Given the description of an element on the screen output the (x, y) to click on. 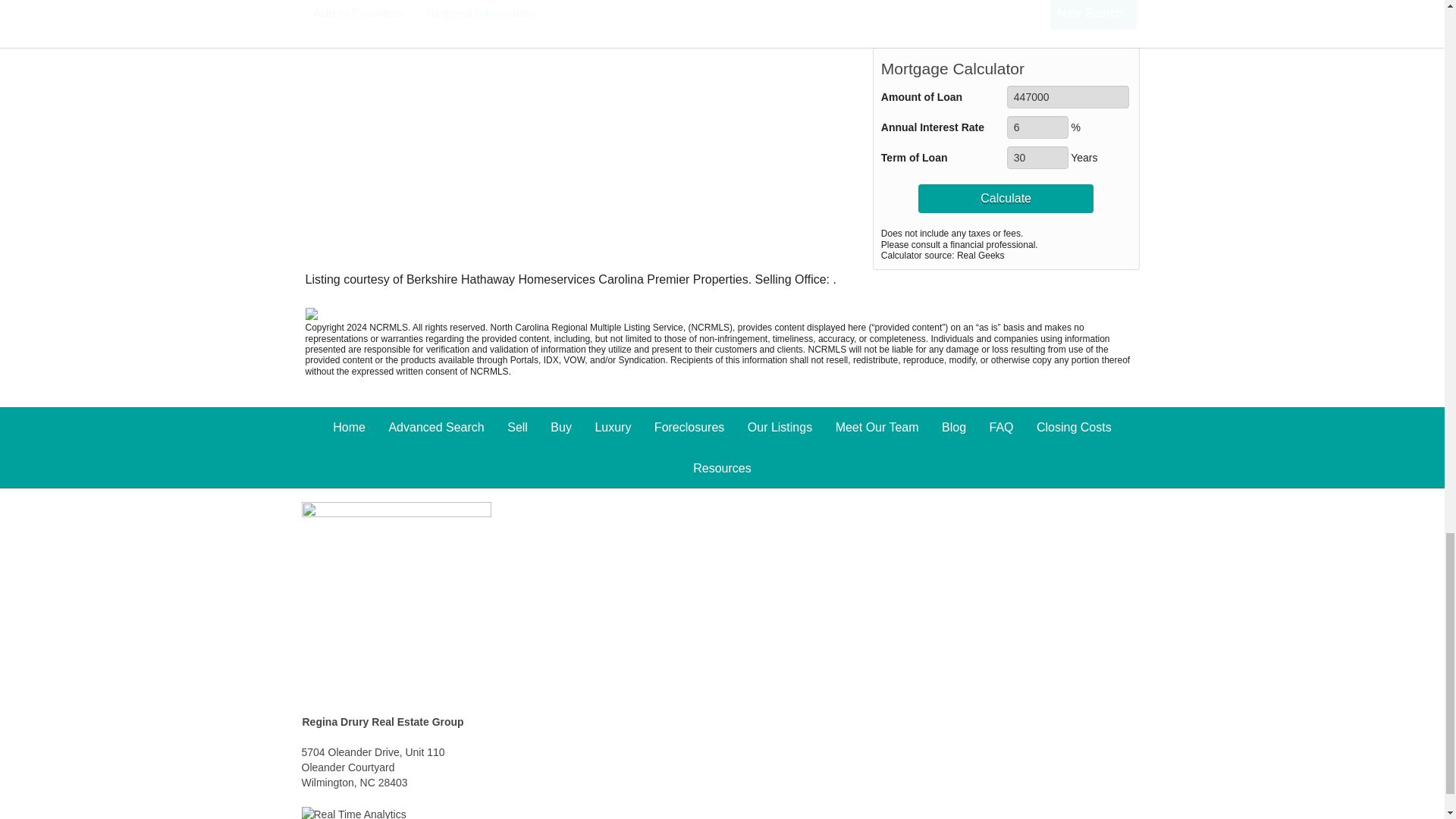
30 (1037, 157)
447000 (1068, 96)
Real Time Analytics (353, 812)
6 (1037, 127)
